Given the description of an element on the screen output the (x, y) to click on. 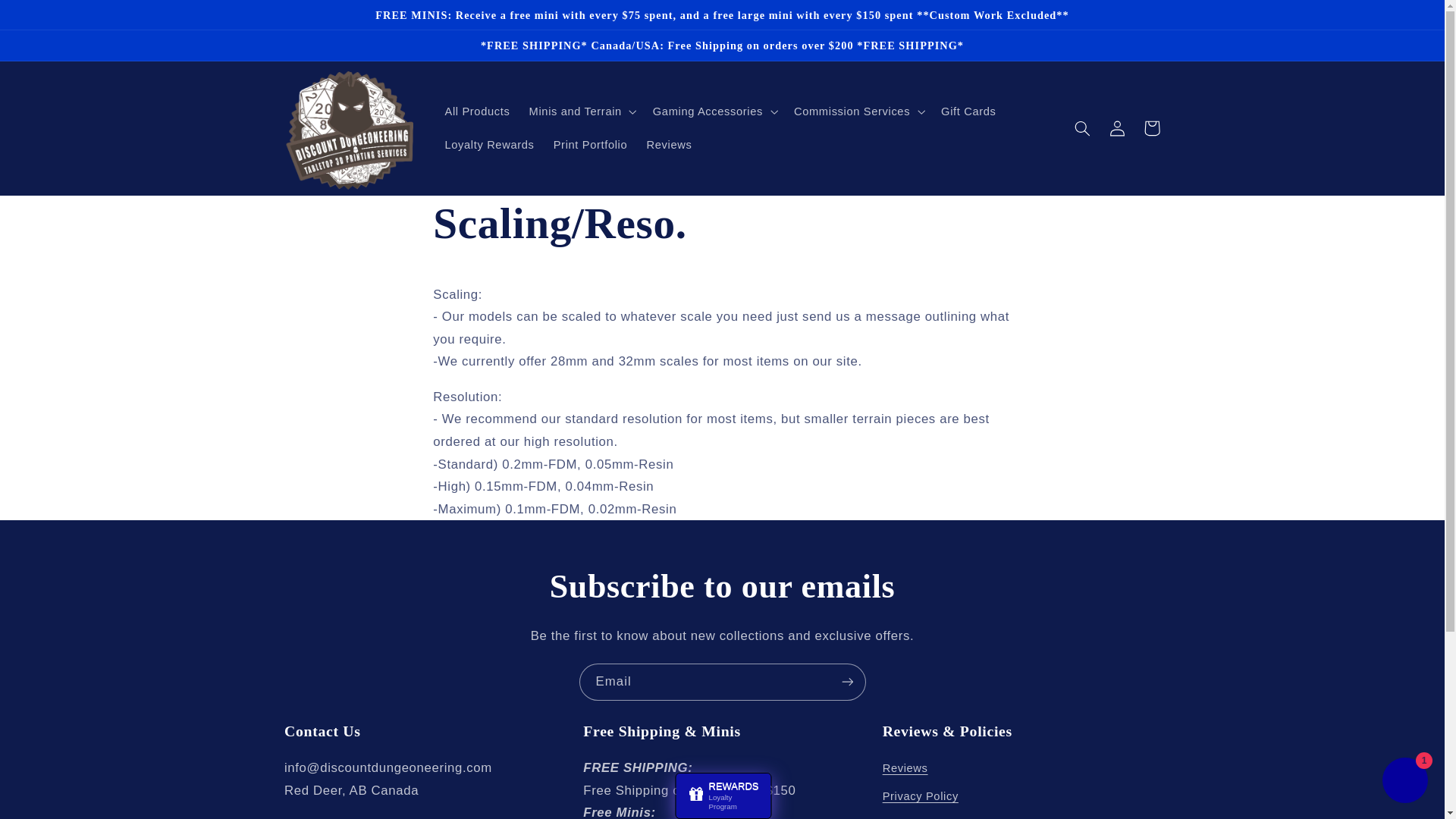
Shopify online store chat (1404, 781)
Skip to content (48, 18)
